Given the description of an element on the screen output the (x, y) to click on. 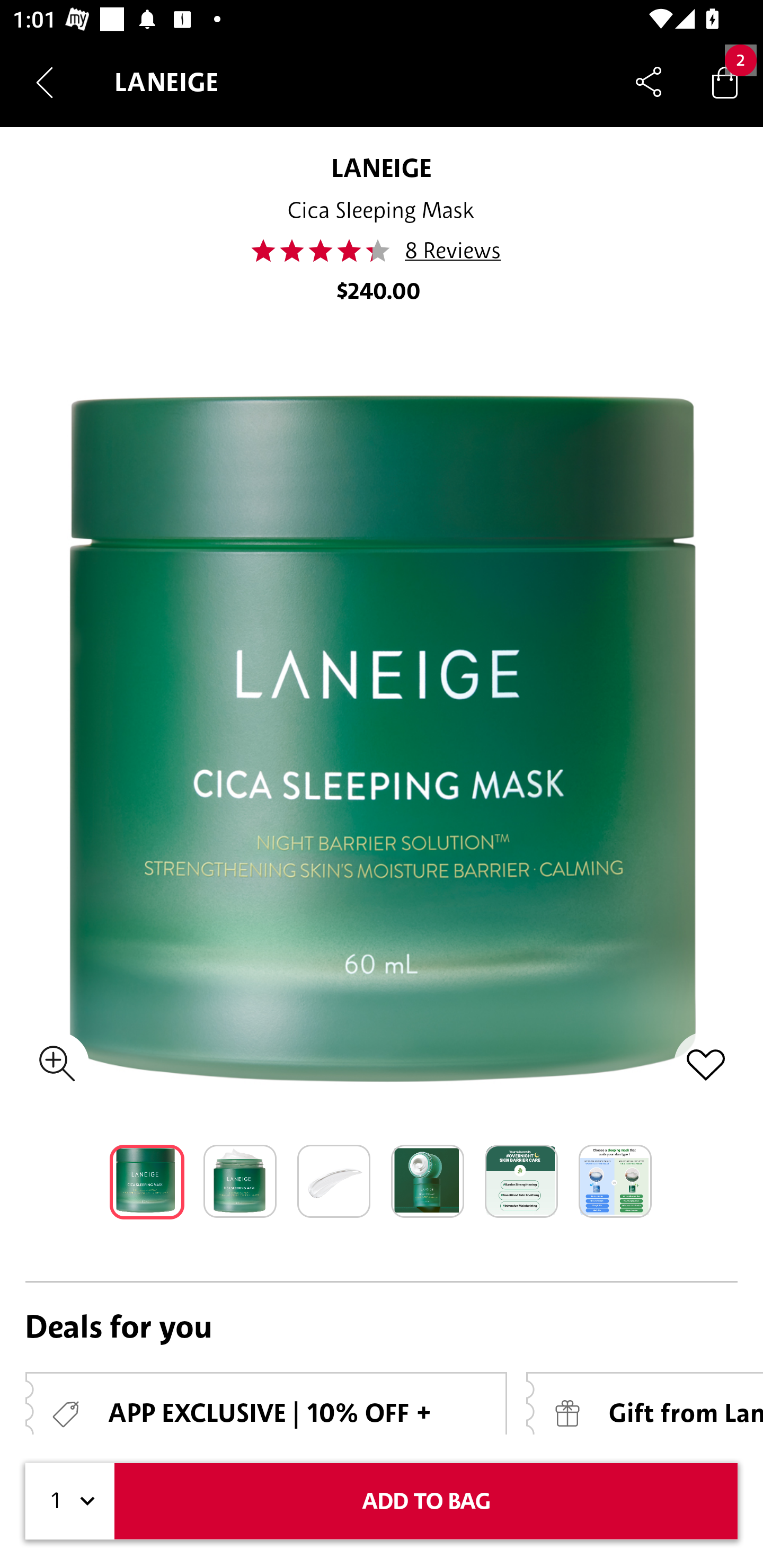
Navigate up (44, 82)
Share (648, 81)
Bag (724, 81)
LANEIGE (381, 167)
43.0 8 Reviews (381, 250)
1 (69, 1500)
ADD TO BAG (425, 1500)
